Given the description of an element on the screen output the (x, y) to click on. 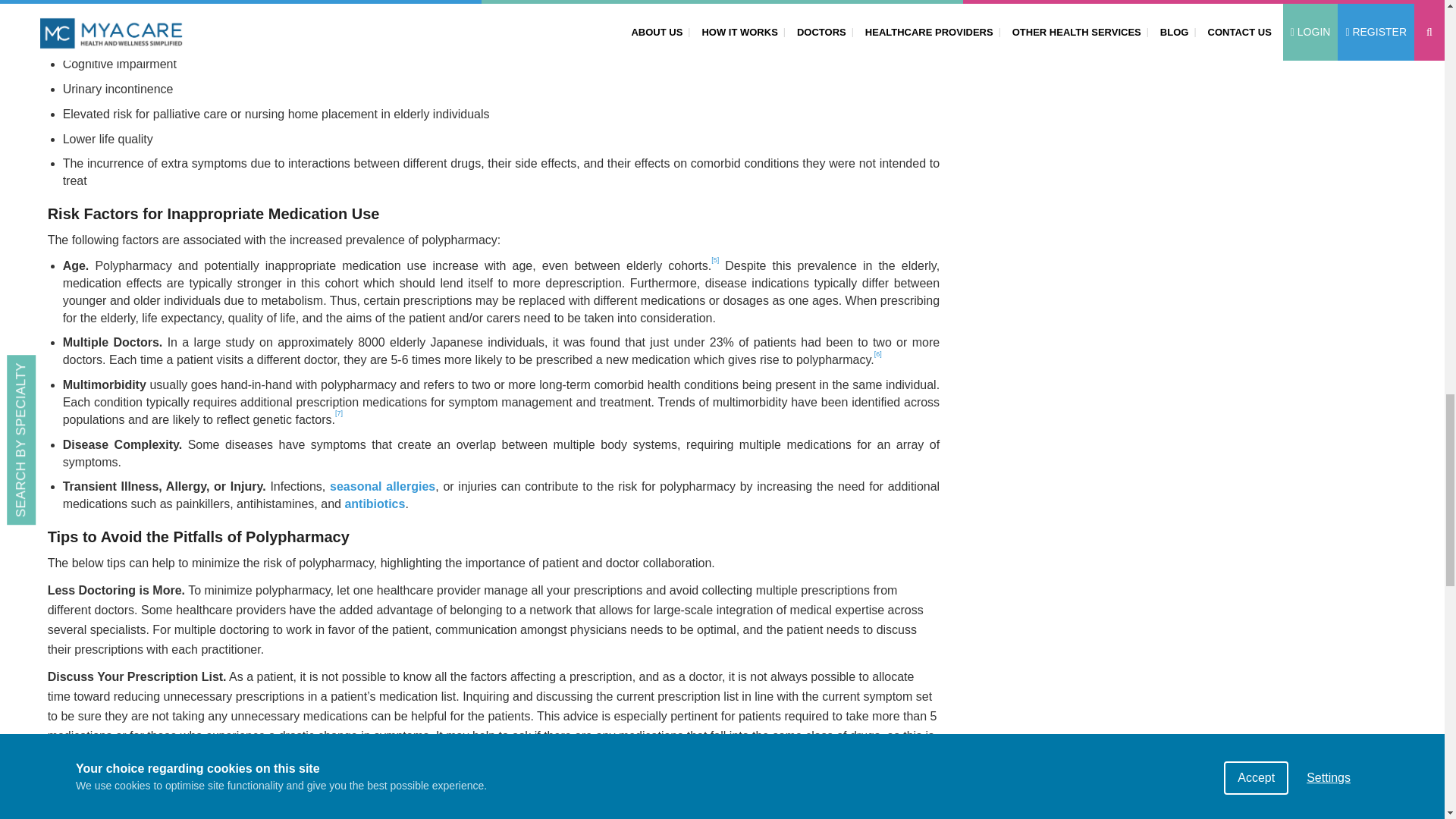
Weight loss (96, 38)
Falls (76, 13)
antibiotics (373, 503)
NSAIDs (434, 755)
seasonal allergies (382, 486)
